Given the description of an element on the screen output the (x, y) to click on. 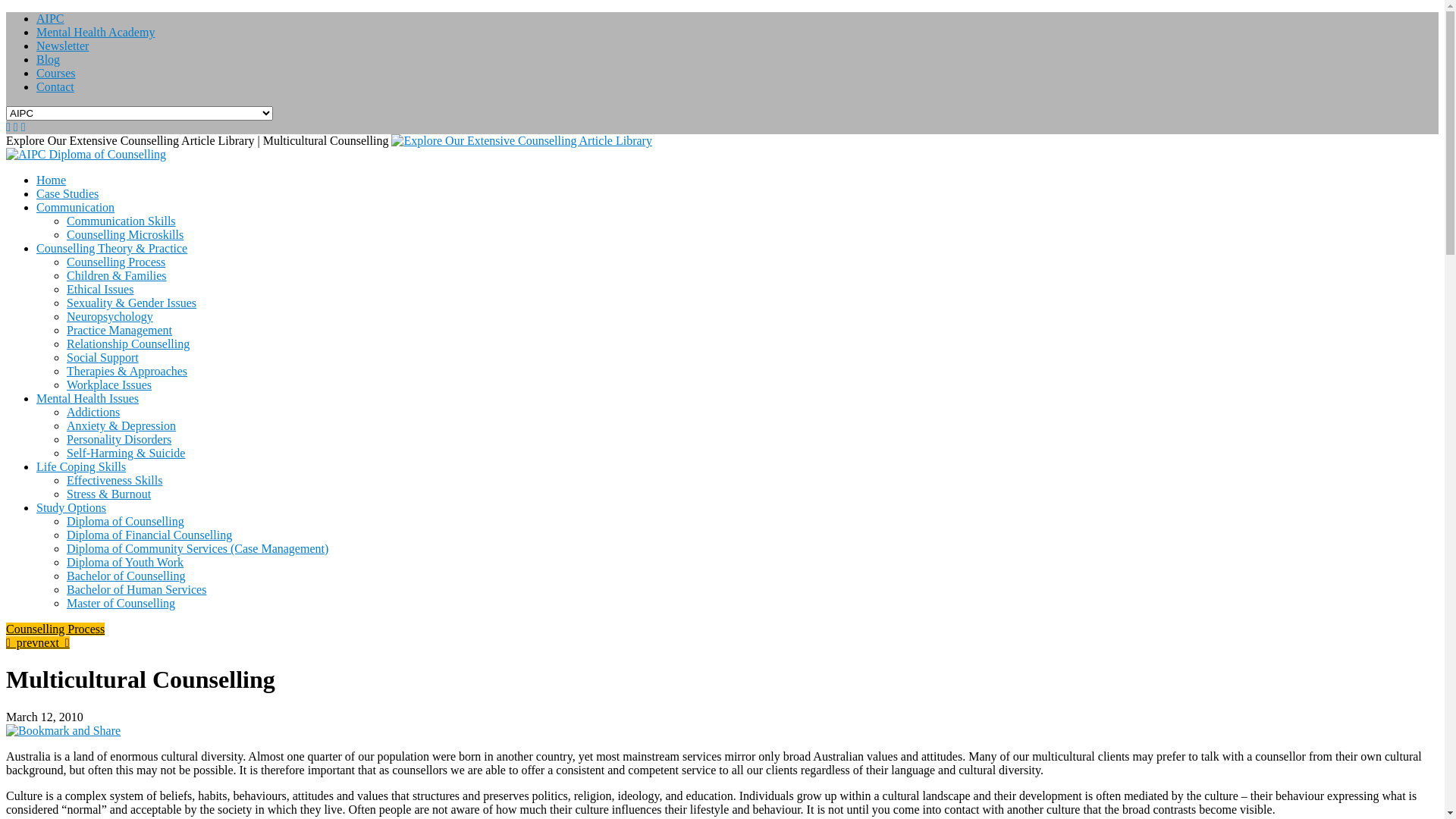
Anxiety & Depression Element type: text (120, 425)
Twitter Element type: hover (15, 126)
Blog Element type: text (47, 59)
Communication Element type: text (75, 206)
Social Support Element type: text (102, 357)
Counselling Process Element type: text (55, 628)
Addictions Element type: text (92, 411)
Diploma of Financial Counselling Element type: text (149, 534)
Personality Disorders Element type: text (118, 439)
next   Element type: text (53, 642)
Case Studies Element type: text (67, 193)
Diploma of Youth Work Element type: text (124, 561)
Therapies & Approaches Element type: text (126, 370)
Stress & Burnout Element type: text (108, 493)
Newsletter Element type: text (62, 45)
Communication Skills Element type: text (120, 220)
Workplace Issues Element type: text (108, 384)
Effectiveness Skills Element type: text (114, 479)
Relationship Counselling Element type: text (127, 343)
Facebook Element type: hover (23, 126)
Master of Counselling Element type: text (120, 602)
Bachelor of Human Services Element type: text (136, 589)
Home Element type: text (50, 179)
Children & Families Element type: text (116, 275)
Courses Element type: text (55, 72)
RSS Feed Element type: hover (8, 126)
Neuropsychology Element type: text (109, 316)
Counselling Process Element type: text (115, 261)
Explore Our Extensive Counselling Article Library  Element type: hover (521, 140)
Sexuality & Gender Issues Element type: text (131, 302)
Counselling Theory & Practice Element type: text (111, 247)
Diploma of Community Services (Case Management) Element type: text (197, 548)
Self-Harming & Suicide Element type: text (125, 452)
Contact Element type: text (55, 86)
Bachelor of Counselling Element type: text (125, 575)
Ethical Issues Element type: text (99, 288)
  prev Element type: text (21, 642)
Practice Management Element type: text (119, 329)
AIPC Element type: text (49, 18)
Diploma of Counselling Element type: text (125, 520)
Study Options Element type: text (71, 507)
Counselling Microskills Element type: text (124, 234)
Mental Health Issues Element type: text (87, 398)
Life Coping Skills Element type: text (80, 466)
Mental Health Academy Element type: text (95, 31)
